Given the description of an element on the screen output the (x, y) to click on. 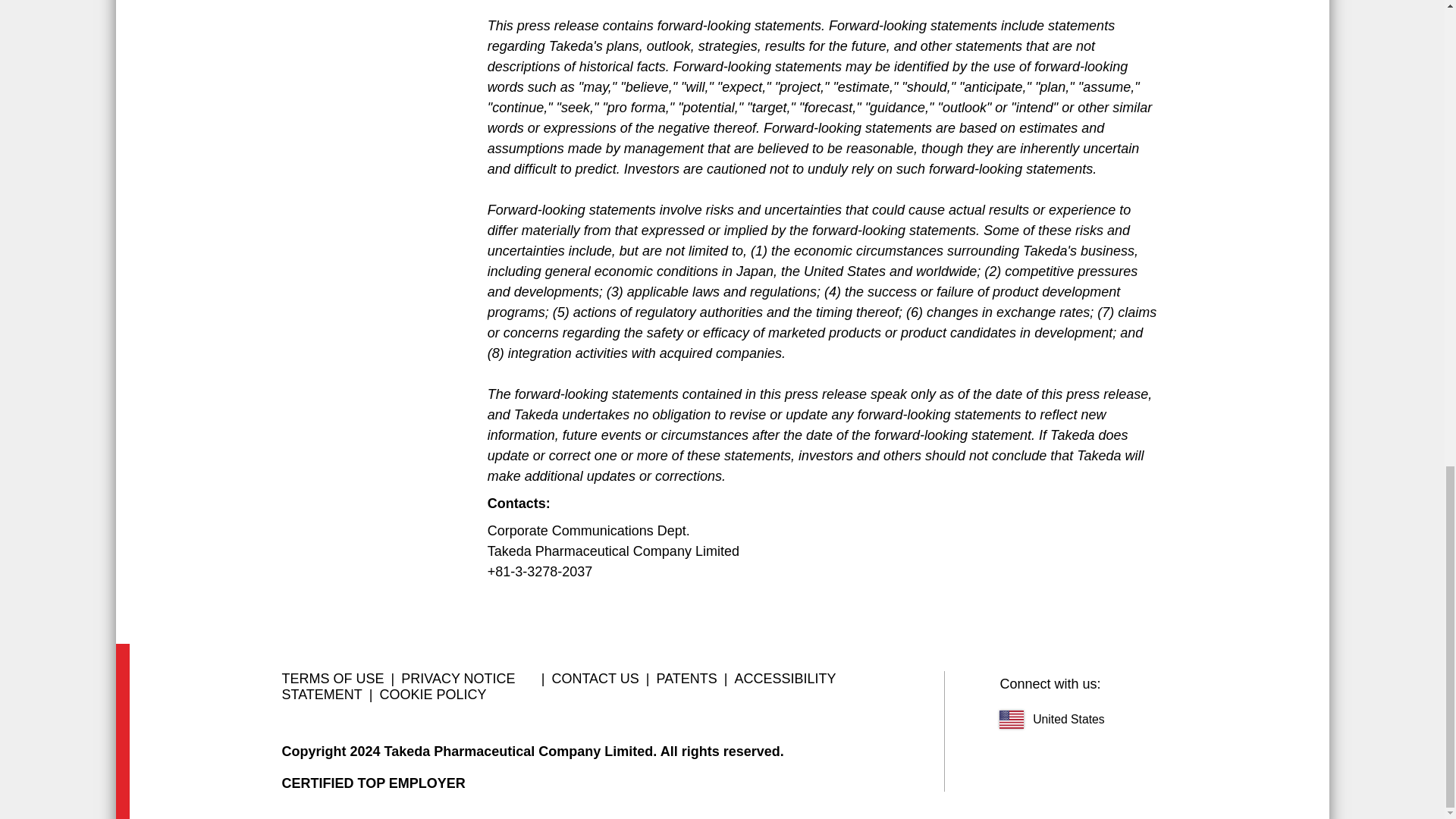
linkedin (1120, 683)
twitter (1158, 683)
